Given the description of an element on the screen output the (x, y) to click on. 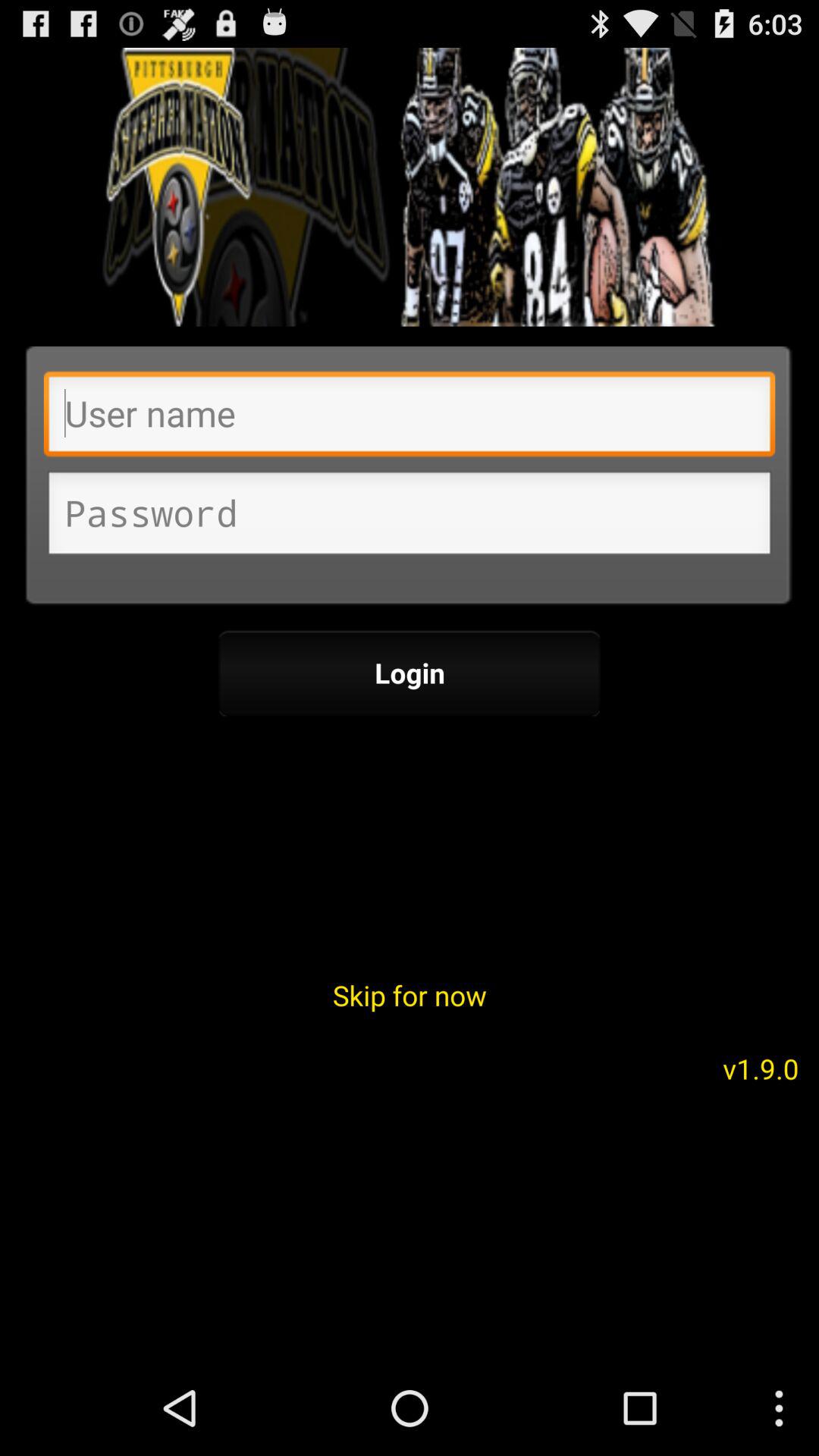
turn off the icon above skip for now icon (409, 672)
